Given the description of an element on the screen output the (x, y) to click on. 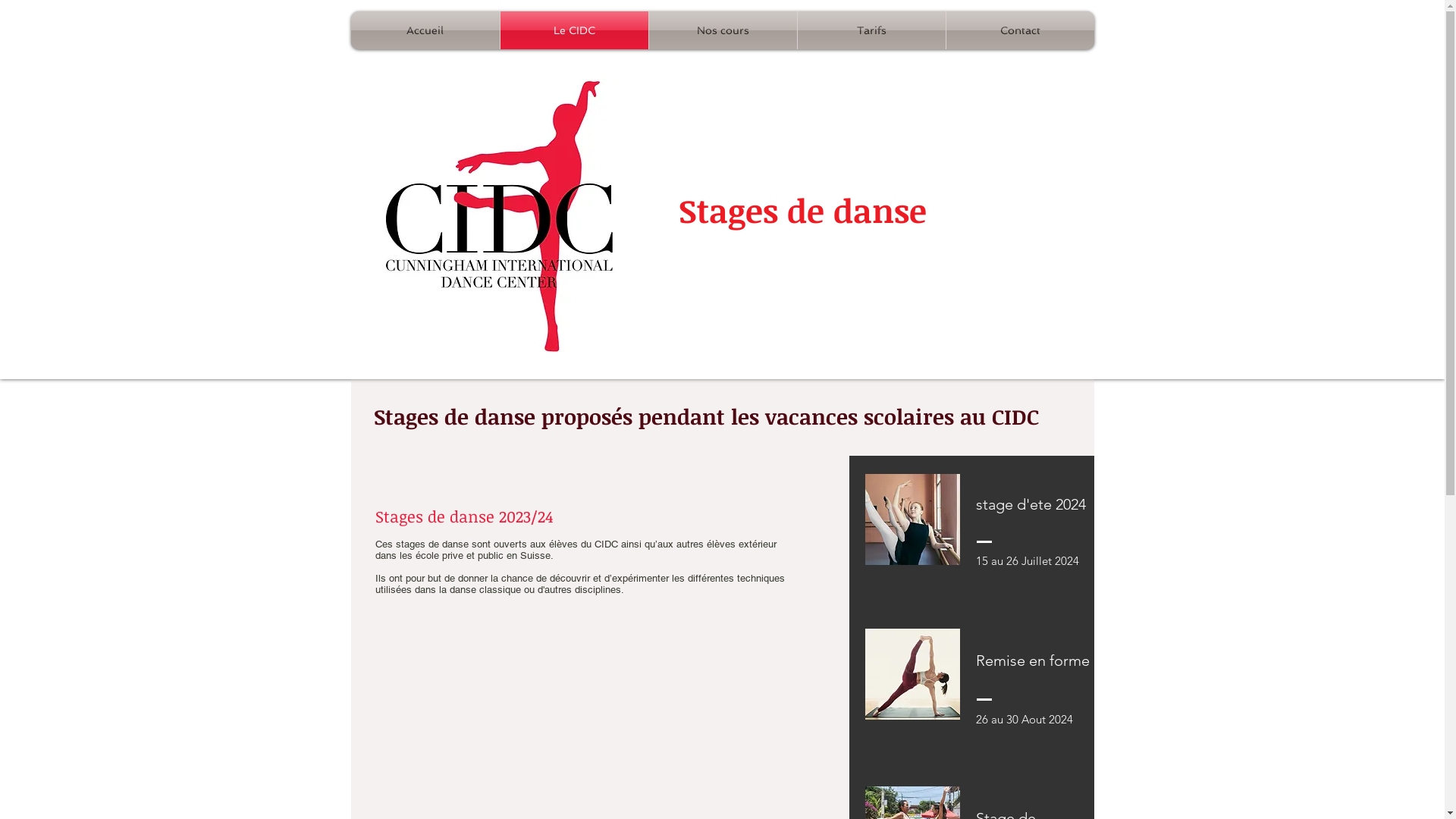
Accueil Element type: text (424, 30)
Le CIDC Element type: text (574, 30)
Nos cours Element type: text (723, 30)
Tarifs Element type: text (871, 30)
Contact Element type: text (1020, 30)
